Given the description of an element on the screen output the (x, y) to click on. 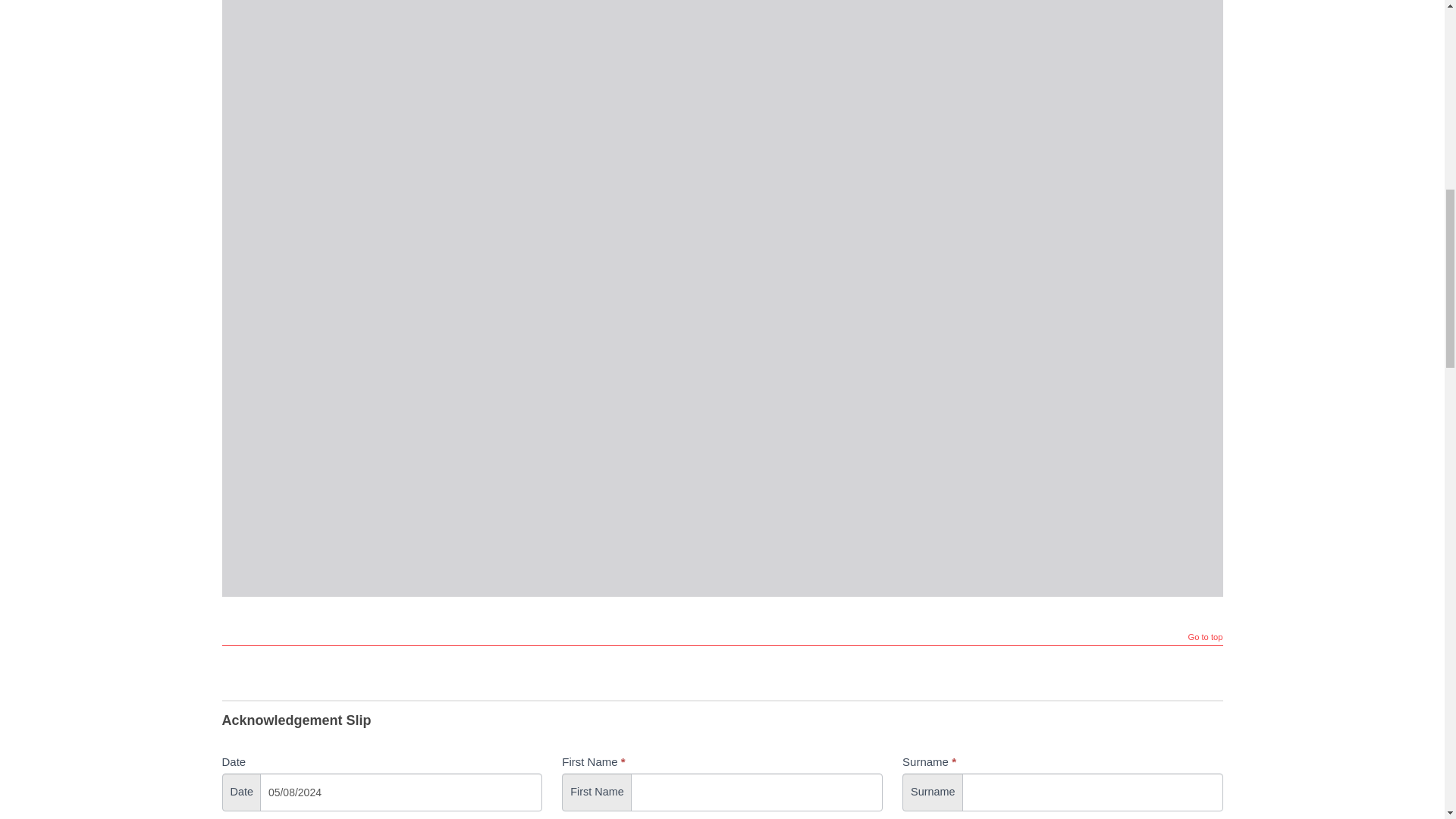
Go to top (1205, 639)
